Given the description of an element on the screen output the (x, y) to click on. 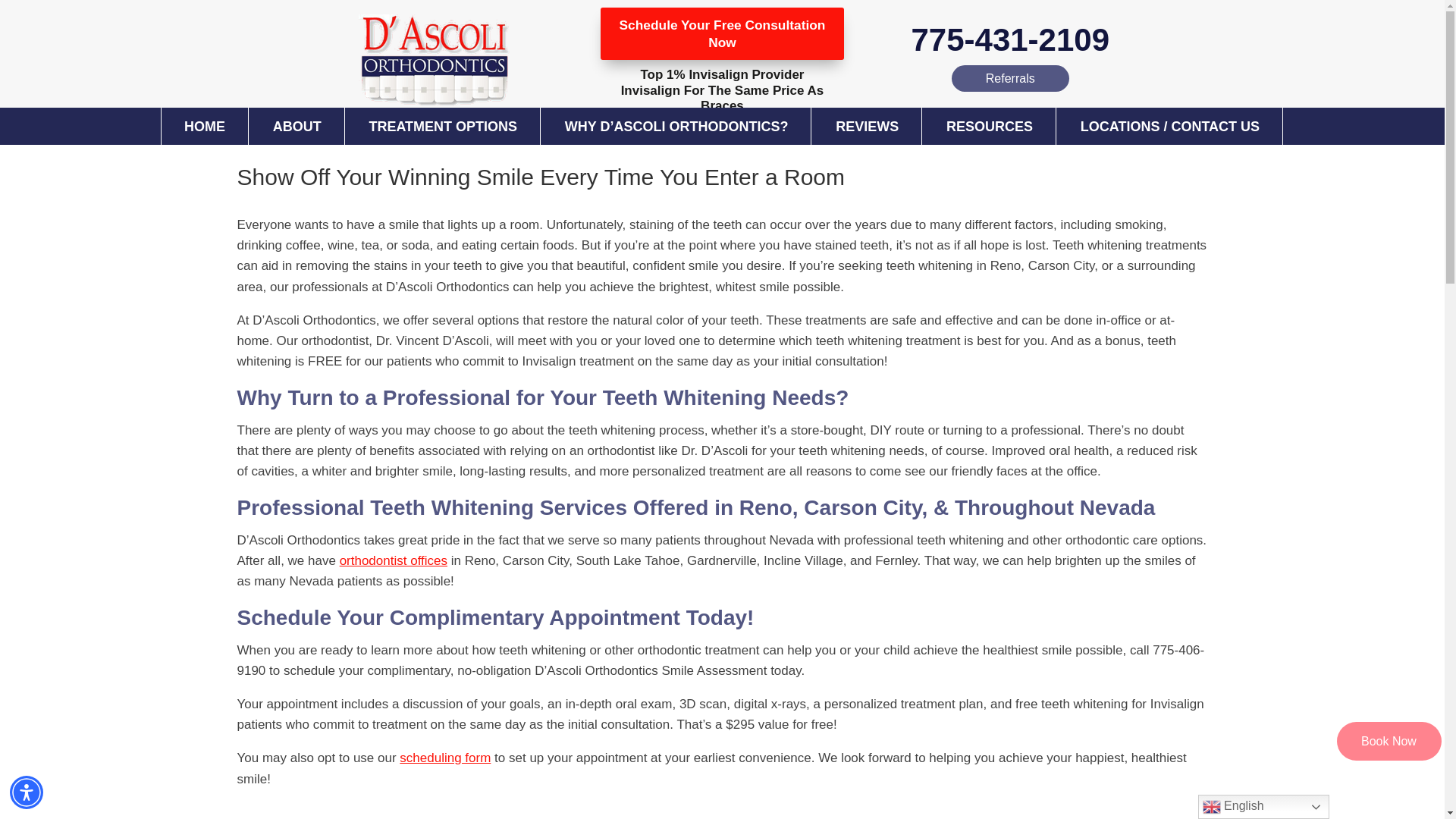
logo (434, 60)
TREATMENT OPTIONS (443, 125)
Referrals (1010, 78)
HOME (204, 125)
Schedule Your Free Consultation Now (721, 33)
Accessibility Menu (26, 792)
775-431-2109 (1010, 39)
ABOUT (296, 125)
